Given the description of an element on the screen output the (x, y) to click on. 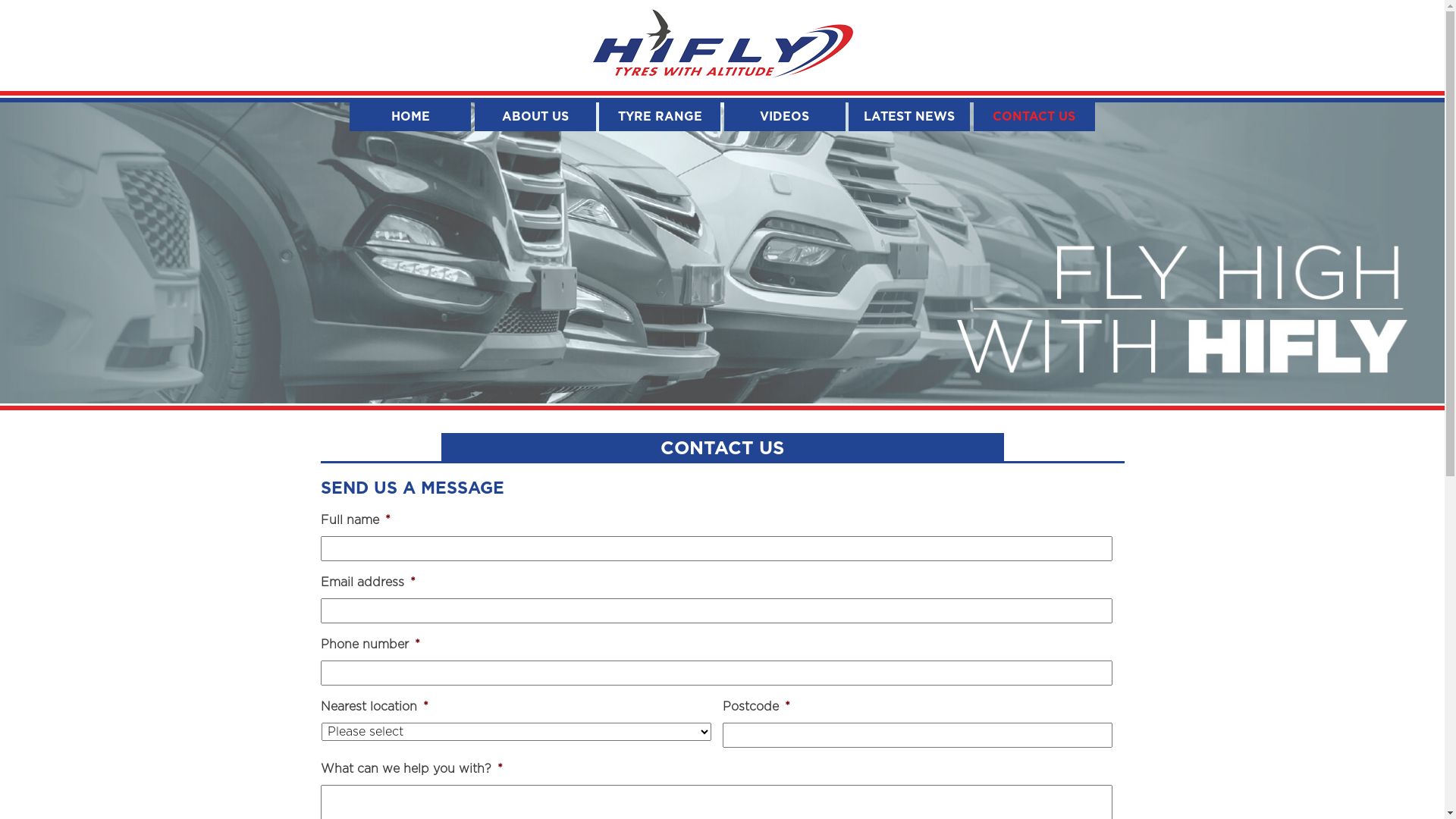
CONTACT US Element type: text (1034, 116)
VIDEOS Element type: text (784, 116)
TYRE RANGE Element type: text (659, 116)
LATEST NEWS Element type: text (908, 116)
Hifly Tyres Australia Element type: text (722, 45)
Skip to primary navigation Element type: text (0, 0)
HOME Element type: text (409, 116)
ABOUT US Element type: text (535, 116)
